Given the description of an element on the screen output the (x, y) to click on. 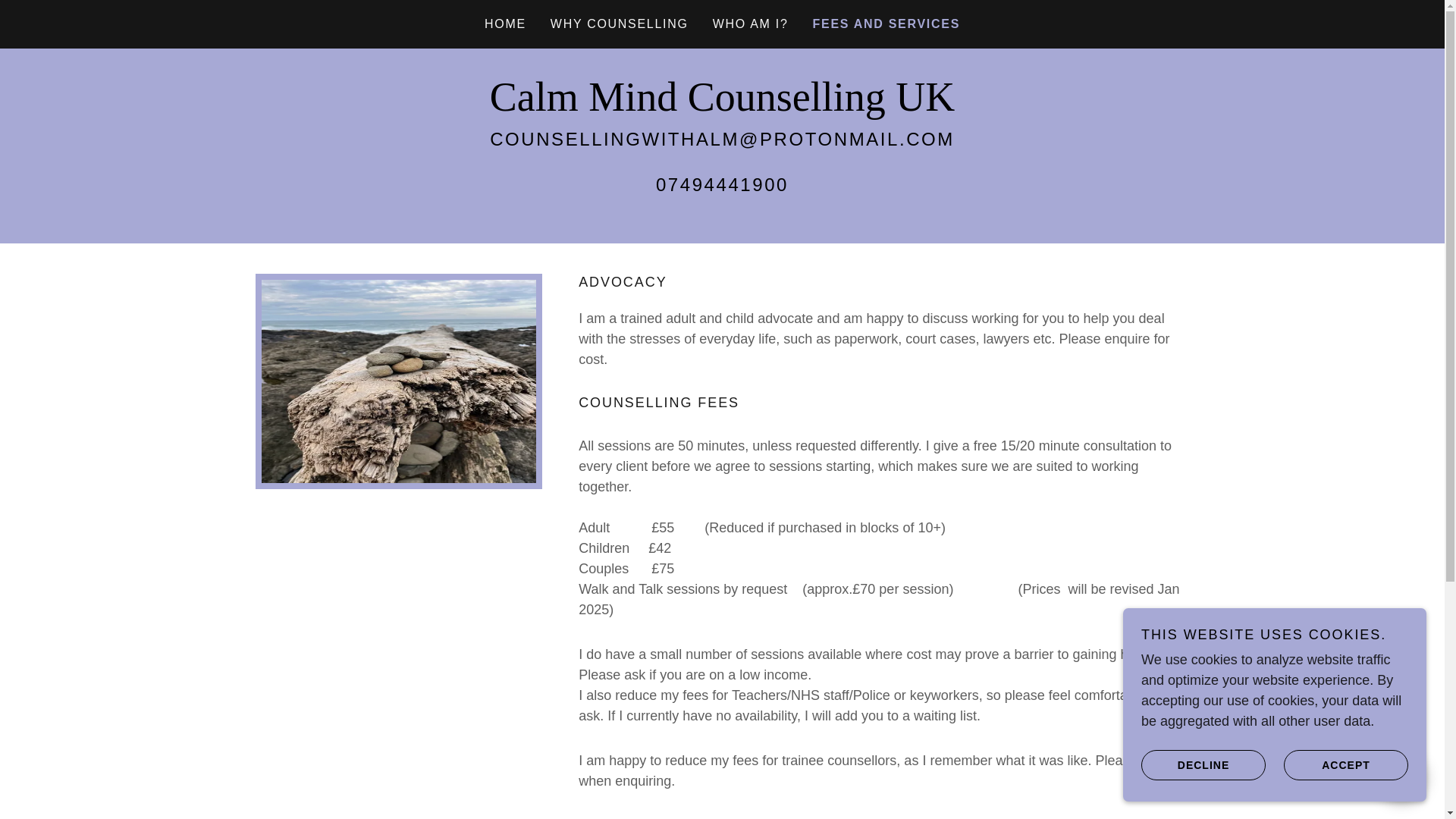
Calm Mind Counselling UK (721, 105)
DECLINE (1203, 764)
HOME (505, 23)
WHY COUNSELLING (619, 23)
WHO AM I? (750, 23)
FEES AND SERVICES (885, 24)
ACCEPT (1345, 764)
Calm Mind Counselling UK (721, 105)
